Given the description of an element on the screen output the (x, y) to click on. 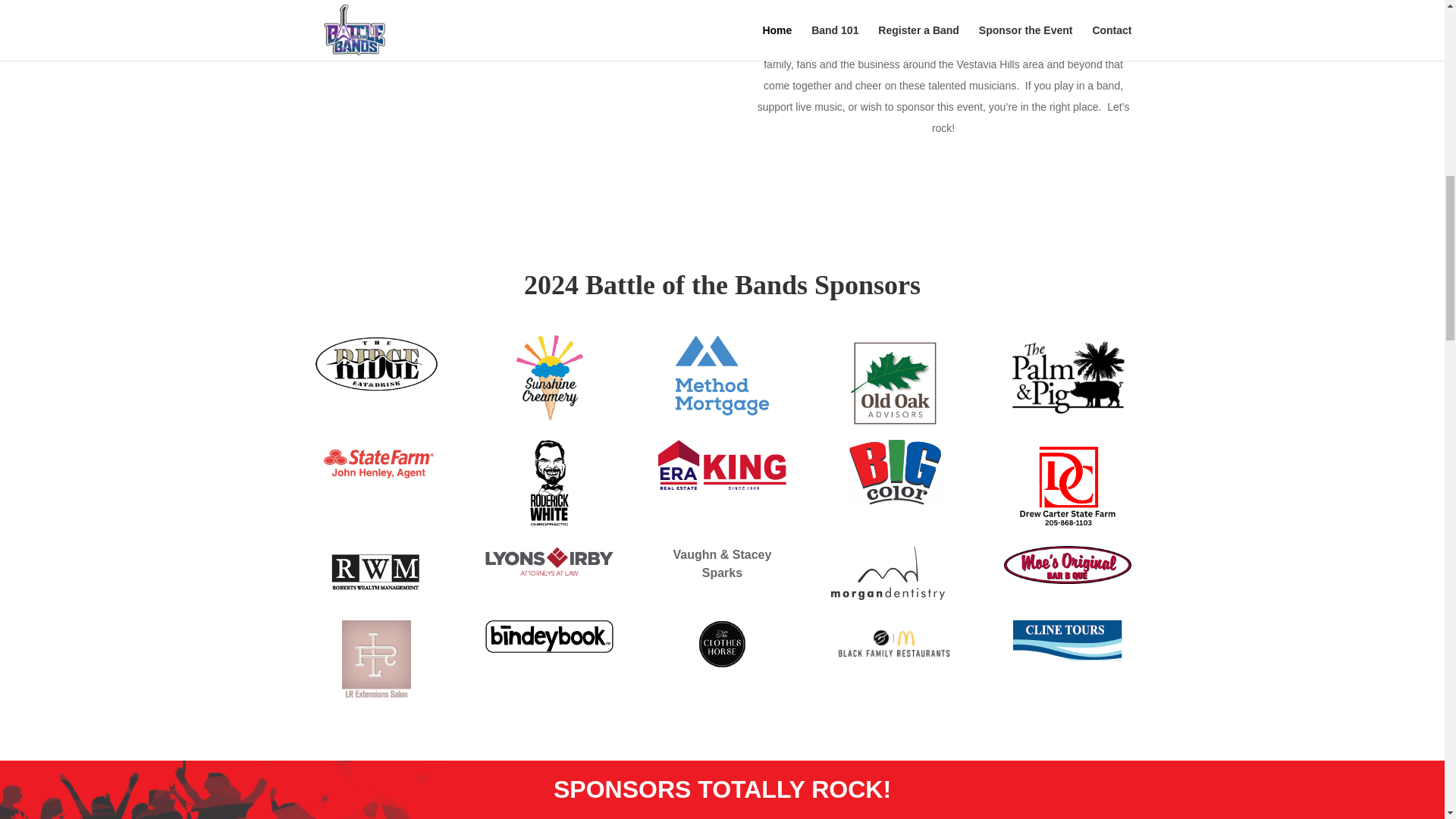
Big Color (894, 472)
palm-and-pig-logo (1067, 375)
Method Mortgage Logo (721, 374)
Ridge logo (376, 363)
Lindsay Ruffino Logo (376, 659)
John-Henley-logo (376, 461)
Lyons Irby Logo (548, 560)
old-oak-logo (894, 381)
Sunshine. Creamery (549, 377)
Drew Carter Logo (1067, 484)
Morgan Dentistry logo (887, 572)
ERA King Logo (722, 464)
Roderick White logo (549, 482)
moes-logo (1067, 564)
roberts wealth management logo (376, 572)
